Given the description of an element on the screen output the (x, y) to click on. 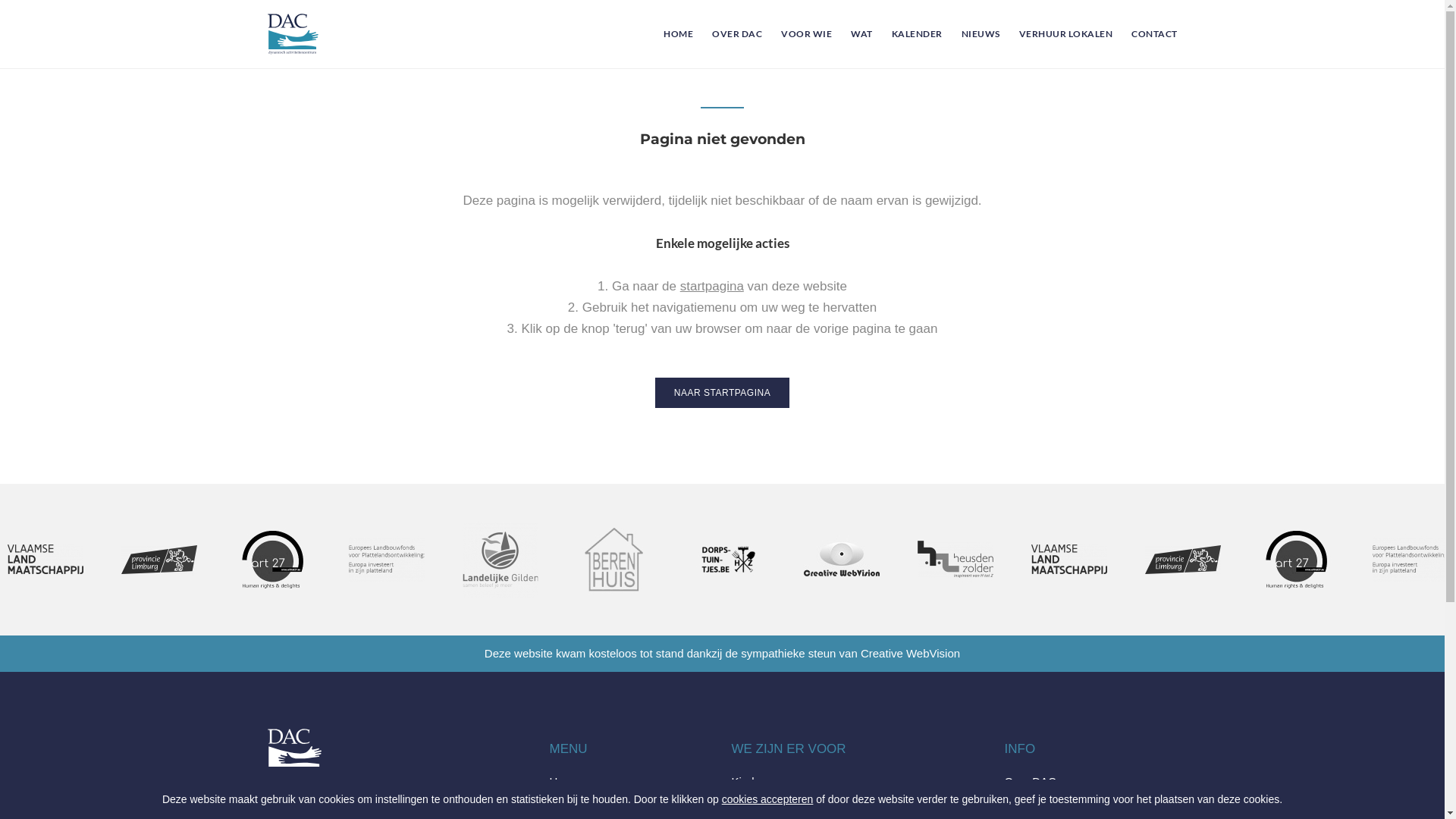
Home Element type: text (564, 781)
startpagina Element type: text (711, 286)
Het Berenhuis Element type: hover (727, 559)
Vlaamse Landmaatschappij Element type: hover (1182, 578)
Gemeente Heusden-Zolder Element type: hover (1069, 559)
Europees landbouwfonds voor plattelandsontwikkeling Element type: hover (500, 578)
Kalender Element type: text (571, 799)
OVER DAC Element type: text (727, 34)
VERHUUR LOKALEN Element type: text (1055, 34)
NAAR STARTPAGINA Element type: text (722, 392)
Atikel 27 Element type: hover (386, 559)
CONTACT Element type: text (1144, 34)
Het Berenhuis Element type: hover (727, 578)
Dorpstuintjes Element type: hover (841, 578)
Vlaamse Landmaatschappij Element type: hover (53, 559)
dac@wey.stijn.be Element type: text (336, 794)
Atikel 27 Element type: hover (386, 578)
KALENDER Element type: text (906, 34)
Europees landbouwfonds voor plattelandsontwikkeling Element type: hover (500, 559)
Provincie Limburg Element type: hover (159, 559)
Landelijke Gilden Element type: hover (614, 578)
Provincie Limburg Element type: hover (1296, 578)
Provincie Limburg Element type: hover (159, 578)
Over DAC Element type: text (1029, 781)
Volwassenen Element type: text (764, 799)
NIEUWS Element type: text (970, 34)
Dorpstuintjes Element type: hover (841, 559)
Kinderen Element type: text (753, 781)
Creative WebVision Element type: hover (955, 578)
Vlaamse Landmaatschappij Element type: hover (1182, 559)
Creative WebVision Element type: hover (955, 559)
HOME Element type: text (668, 34)
Atikel 27 Element type: hover (1410, 559)
Provincie Limburg Element type: hover (1296, 559)
Landelijke Gilden Element type: hover (614, 559)
Gemeente Heusden-Zolder Element type: hover (1069, 578)
